Given the description of an element on the screen output the (x, y) to click on. 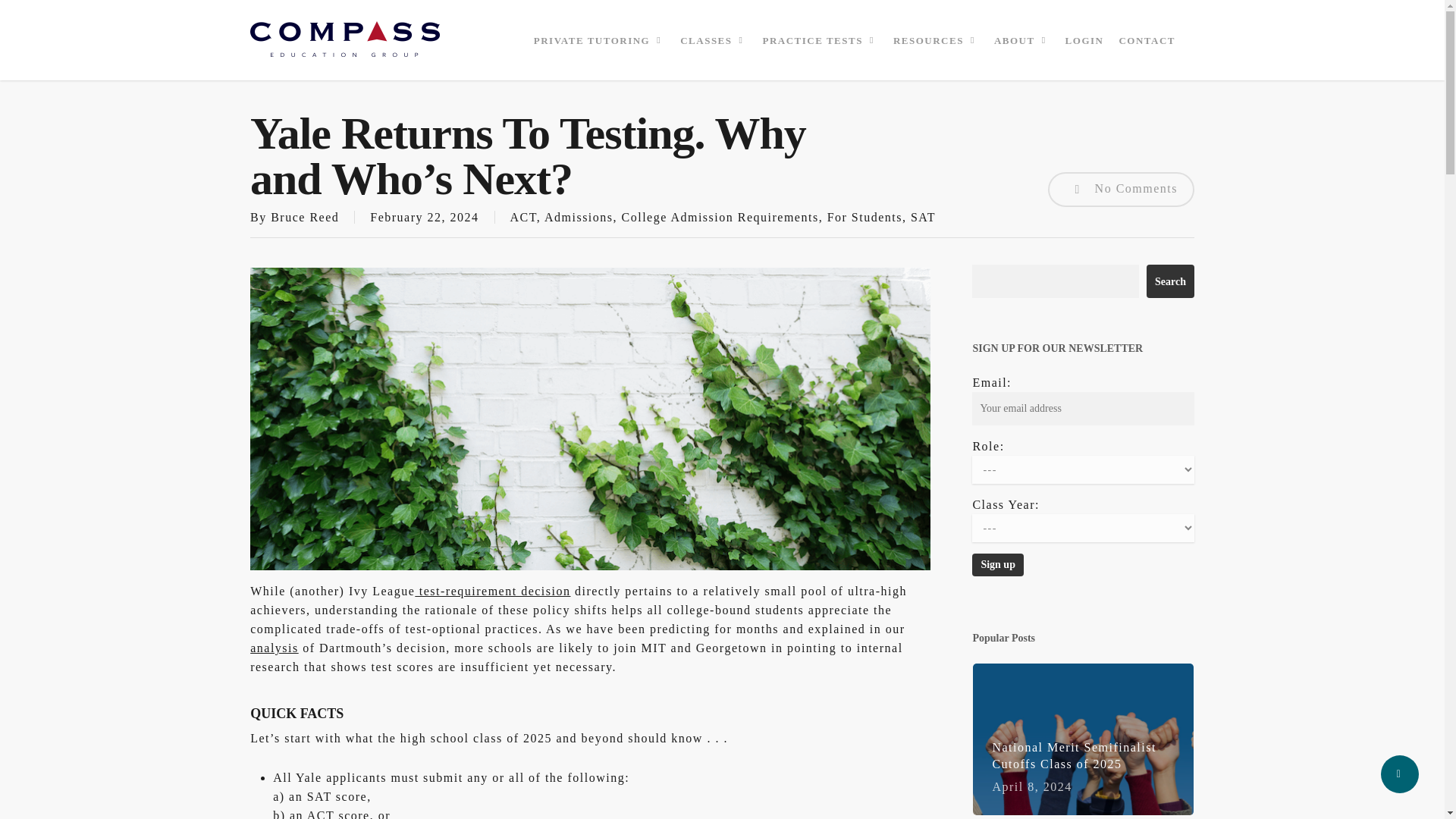
PRACTICE TESTS (820, 40)
CLASSES (713, 40)
LOGIN (1085, 40)
Posts by Bruce Reed (304, 216)
ABOUT (1022, 40)
RESOURCES (936, 40)
CONTACT (1146, 40)
Sign up (997, 564)
PRIVATE TUTORING (598, 40)
